Given the description of an element on the screen output the (x, y) to click on. 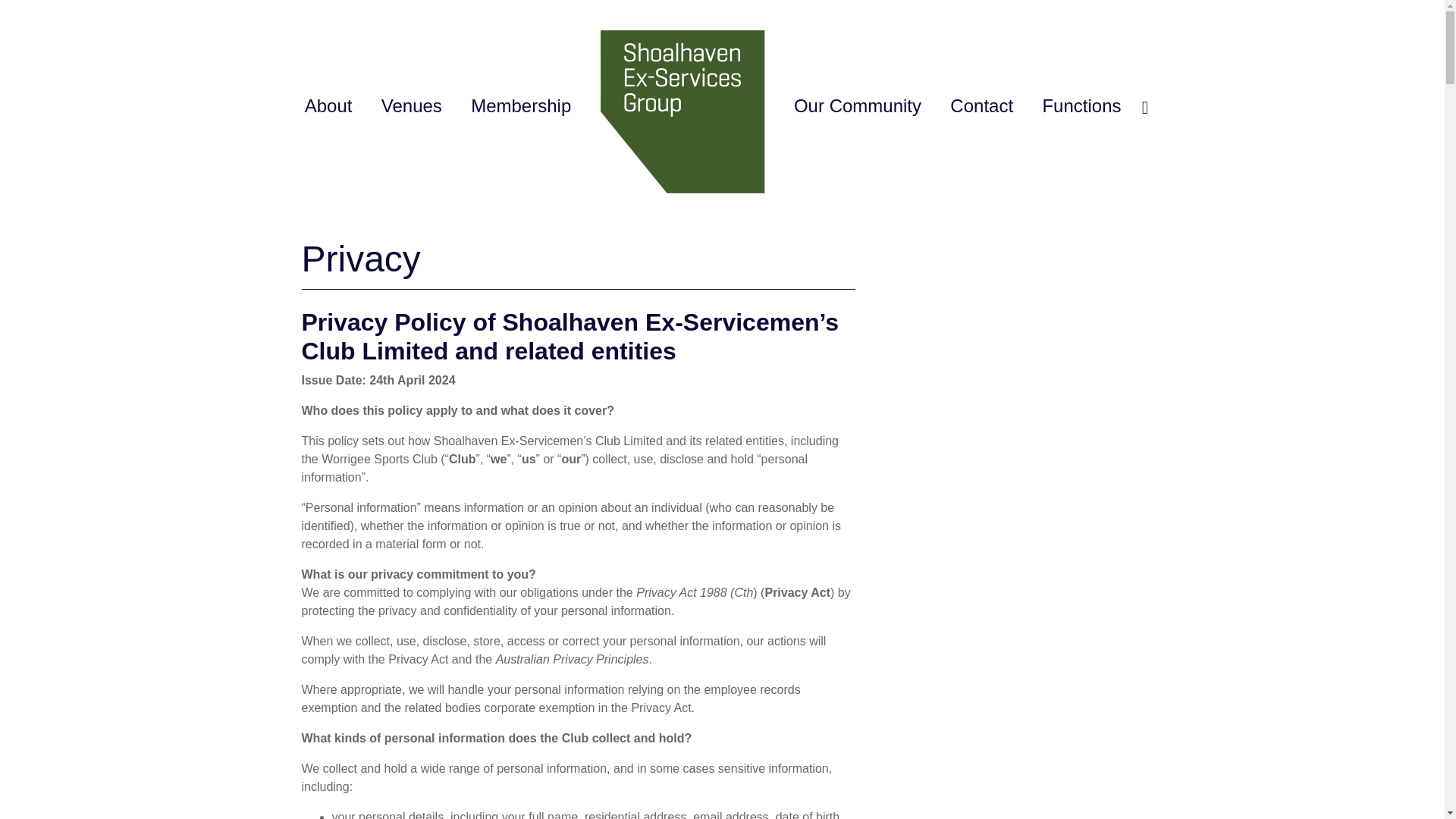
Membership (521, 106)
Membership (521, 106)
Venues (411, 106)
Our Community (857, 106)
Contact (981, 106)
Functions (1081, 106)
Venues (411, 106)
Our Community (857, 106)
About (327, 106)
About (327, 106)
